Given the description of an element on the screen output the (x, y) to click on. 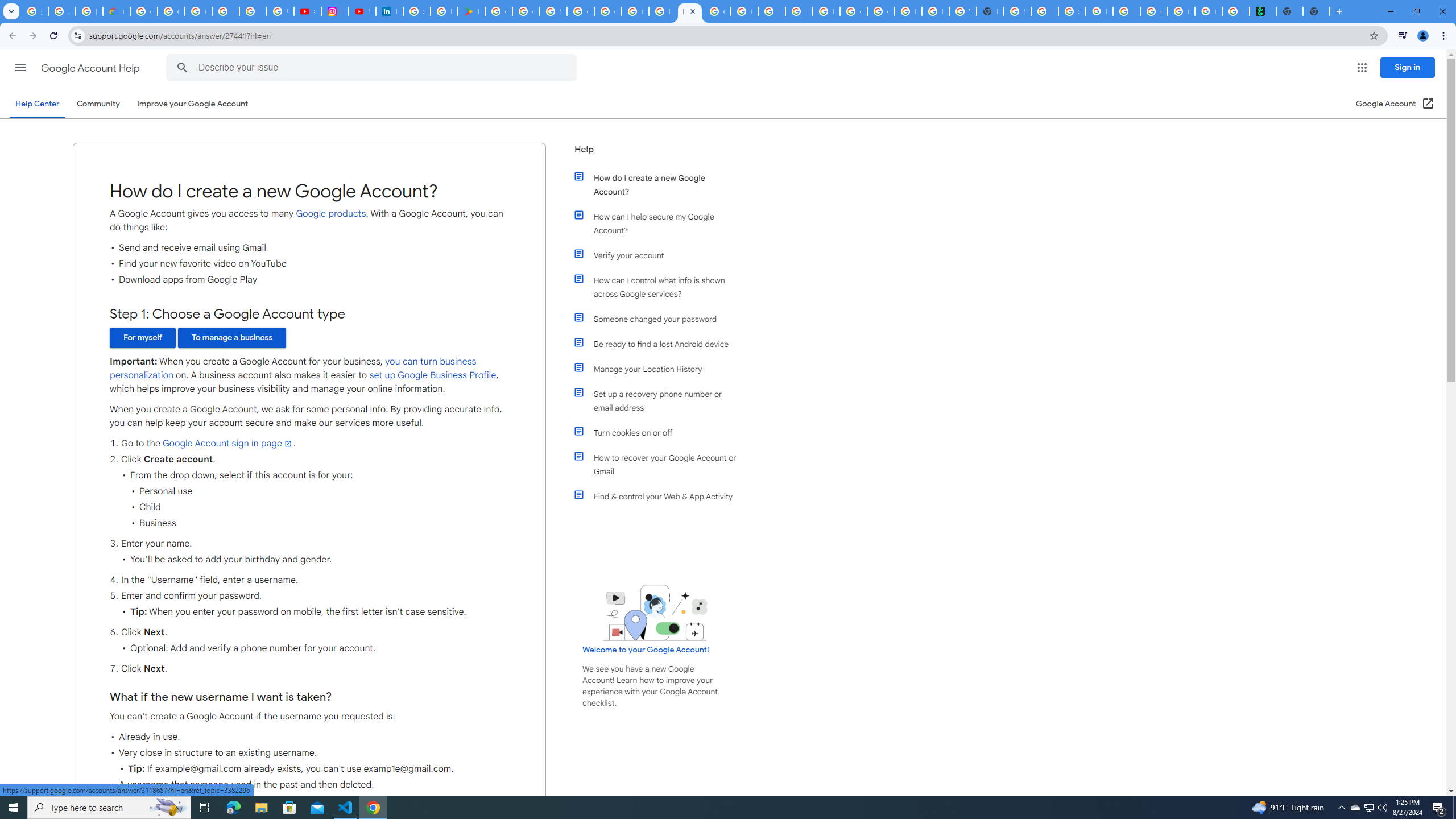
Sign in - Google Accounts (553, 11)
Privacy Help Center - Policies Help (253, 11)
How do I create a new Google Account? - Google Account Help (662, 11)
Google Account Help (91, 68)
Google Cloud Platform (880, 11)
Verify your account (661, 255)
